Given the description of an element on the screen output the (x, y) to click on. 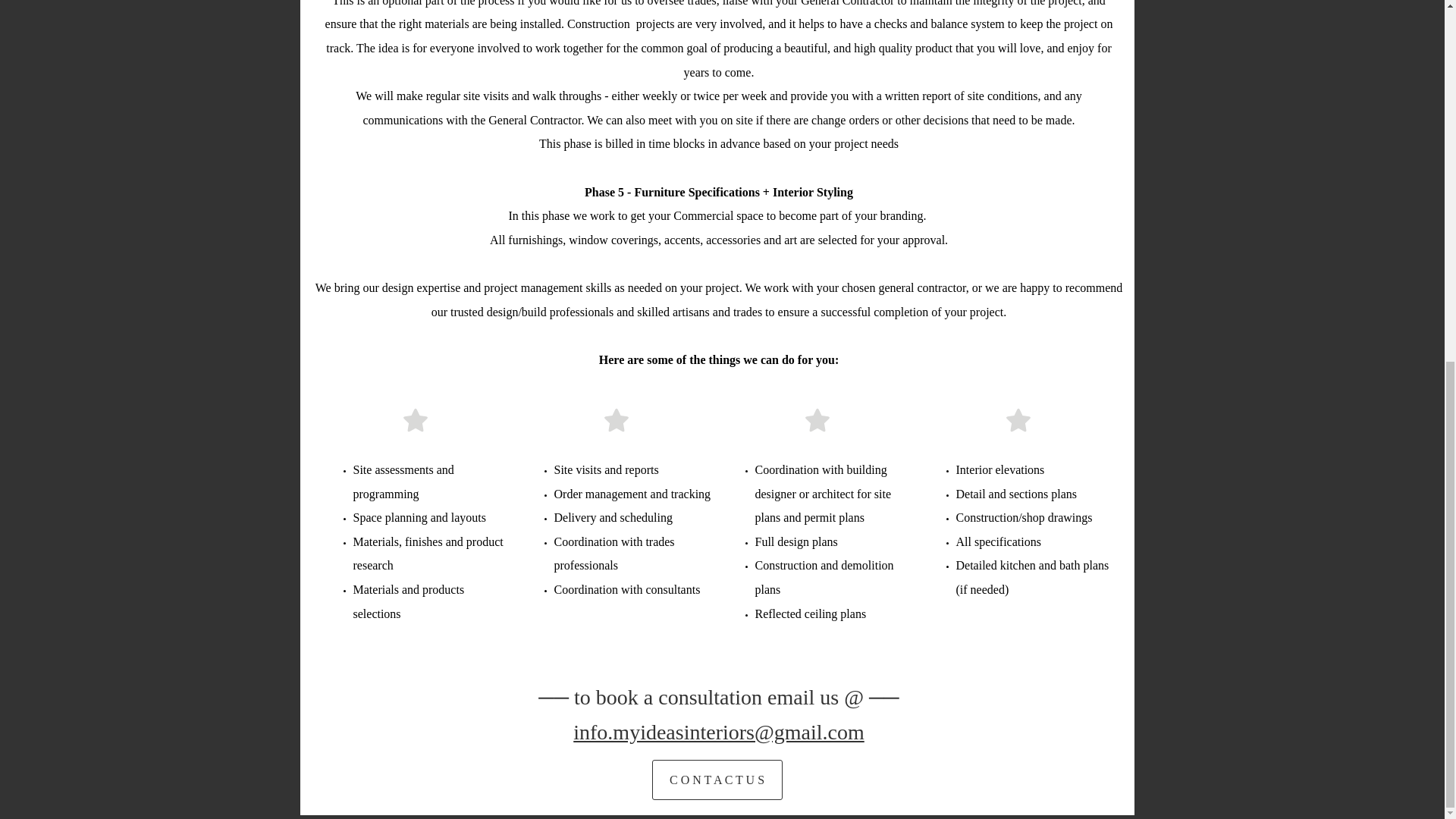
C O N T A C T U S (717, 780)
